Given the description of an element on the screen output the (x, y) to click on. 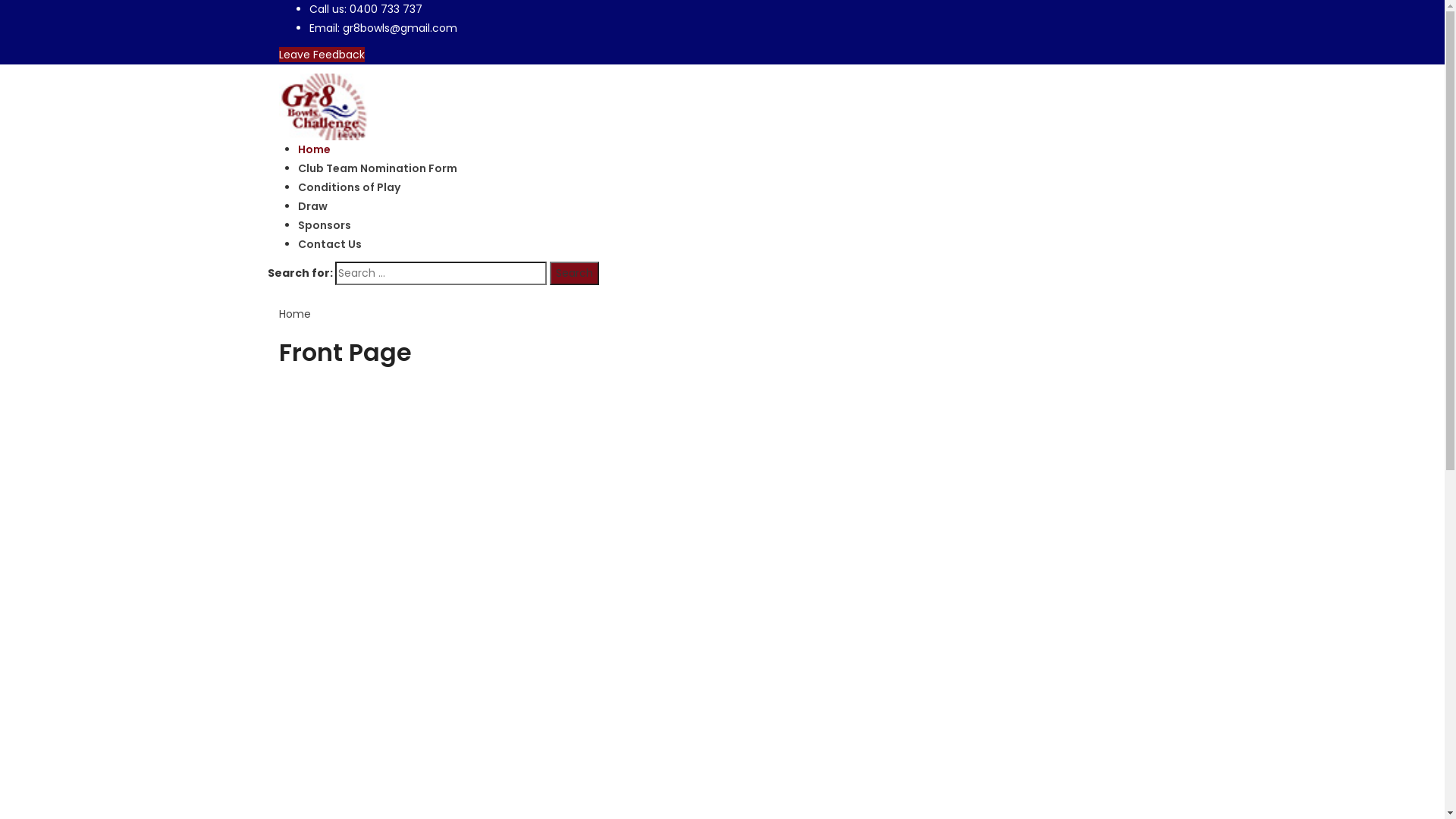
Home Element type: text (313, 148)
Sponsors Element type: text (323, 224)
Email: gr8bowls@gmail.com Element type: text (383, 27)
Leave Feedback Element type: text (321, 54)
Search Element type: text (573, 273)
Club Team Nomination Form Element type: text (376, 167)
Great Bowls Challenge Element type: hover (323, 105)
Conditions of Play Element type: text (348, 186)
Contact Us Element type: text (328, 243)
Draw Element type: text (311, 205)
